Given the description of an element on the screen output the (x, y) to click on. 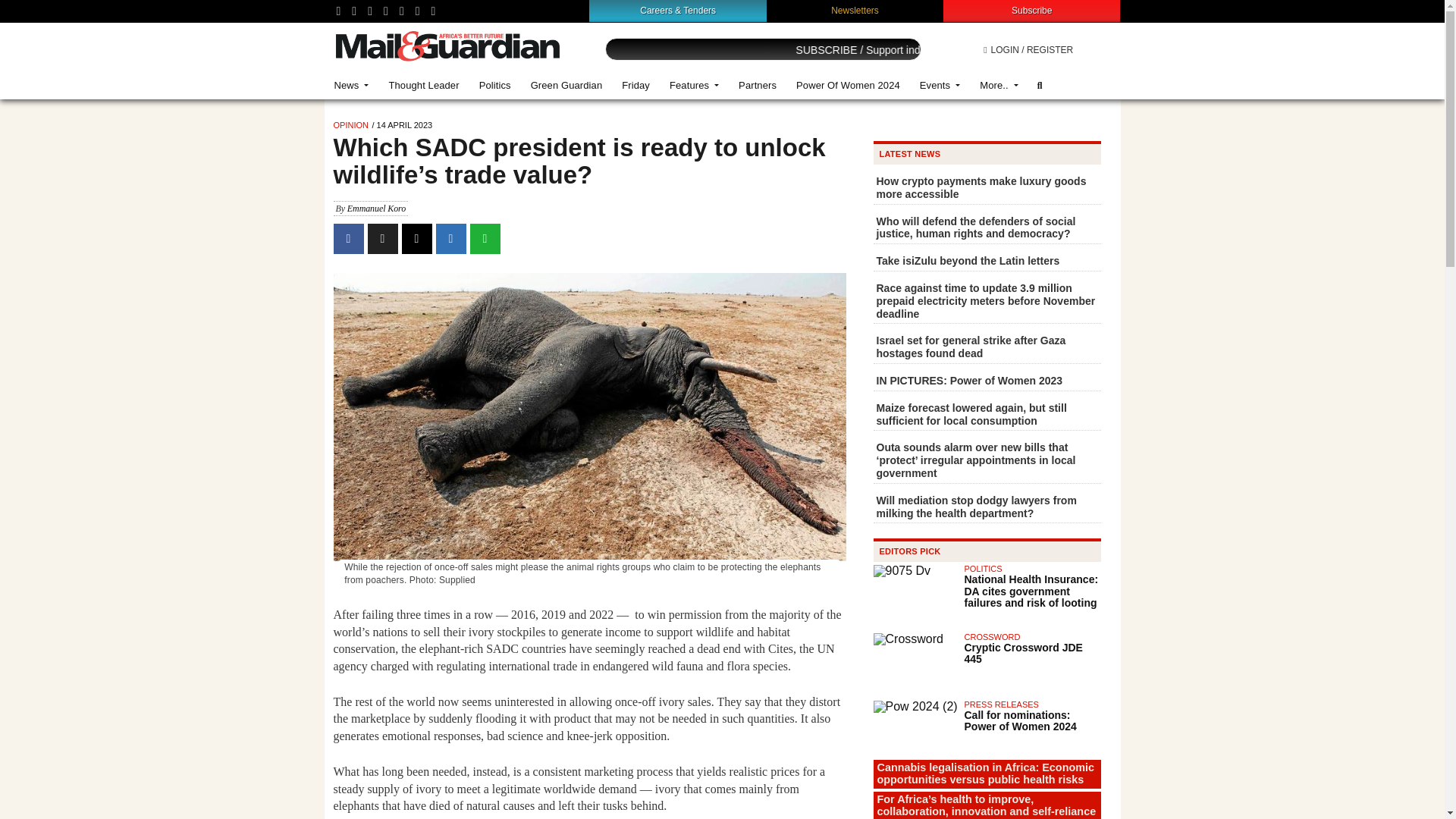
Newsletters (855, 9)
Friday (635, 85)
Thought Leader (423, 85)
News (351, 85)
News (351, 85)
Features (694, 85)
Subscribe (1031, 9)
Politics (494, 85)
Green Guardian (566, 85)
